Given the description of an element on the screen output the (x, y) to click on. 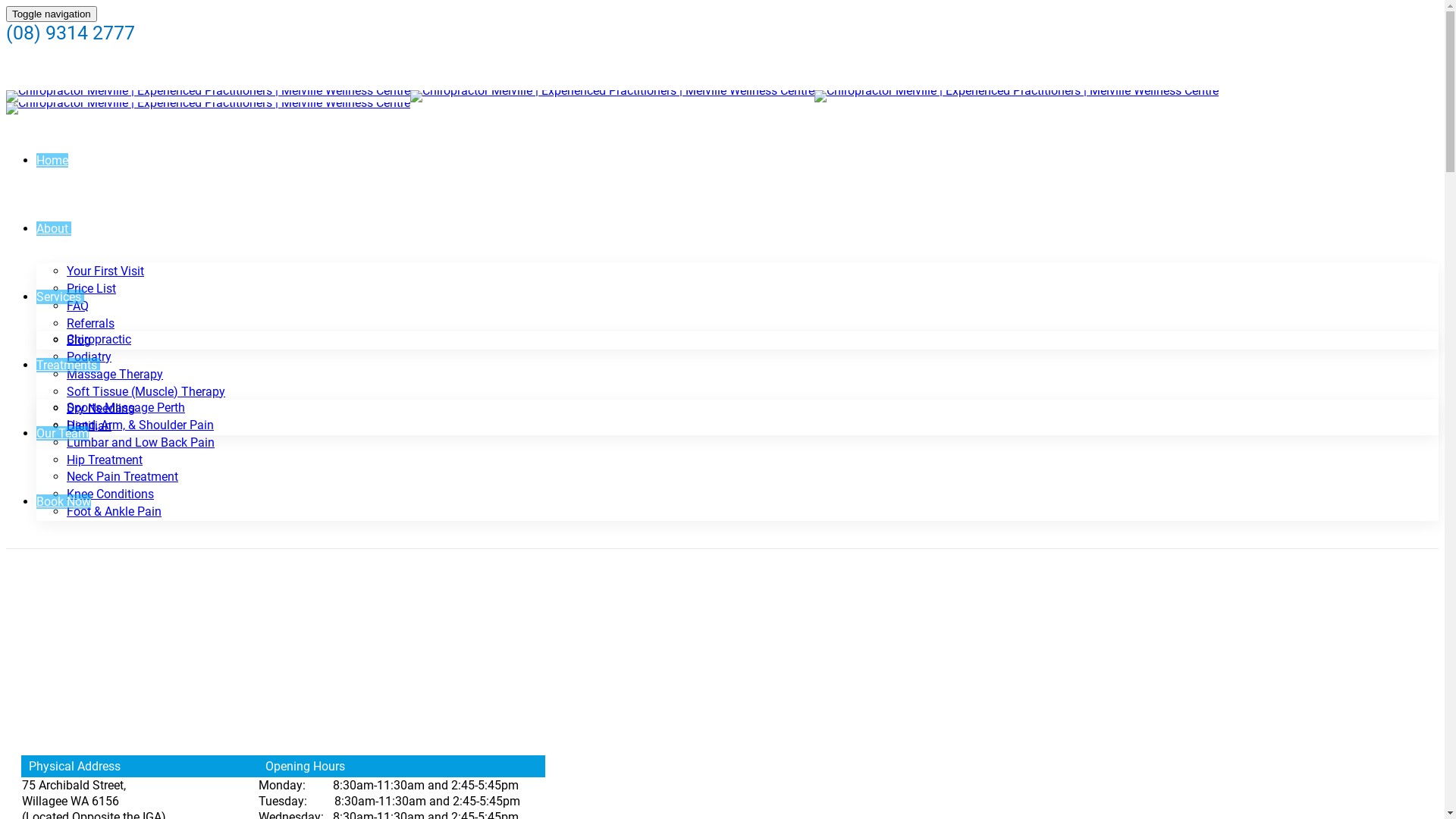
Book Now Element type: text (63, 501)
Toggle navigation Element type: text (51, 13)
Lumbar and Low Back Pain Element type: text (140, 442)
Treatments Element type: text (66, 364)
Hand, Arm, & Shoulder Pain Element type: text (139, 424)
(08) 9314 2777 Element type: text (70, 32)
Soft Tissue (Muscle) Therapy Element type: text (145, 391)
Dietitian Element type: text (88, 425)
Our Team Element type: text (62, 433)
Services Element type: text (58, 296)
  Element type: text (69, 228)
  Element type: text (82, 296)
About Element type: text (52, 228)
Massage Therapy Element type: text (114, 374)
Blog Element type: text (78, 339)
FAQ Element type: text (77, 305)
Neck Pain Treatment Element type: text (122, 476)
  Element type: text (98, 364)
Referrals Element type: text (90, 323)
Dry Needling Element type: text (100, 408)
Home Element type: text (52, 160)
Foot & Ankle Pain Element type: text (113, 511)
Your First Visit Element type: text (105, 270)
Chiropractic Element type: text (98, 339)
Knee Conditions Element type: text (109, 493)
Hip Treatment Element type: text (104, 459)
Podiatry Element type: text (88, 356)
Price List Element type: text (91, 288)
Sports Massage Perth Element type: text (125, 407)
